Given the description of an element on the screen output the (x, y) to click on. 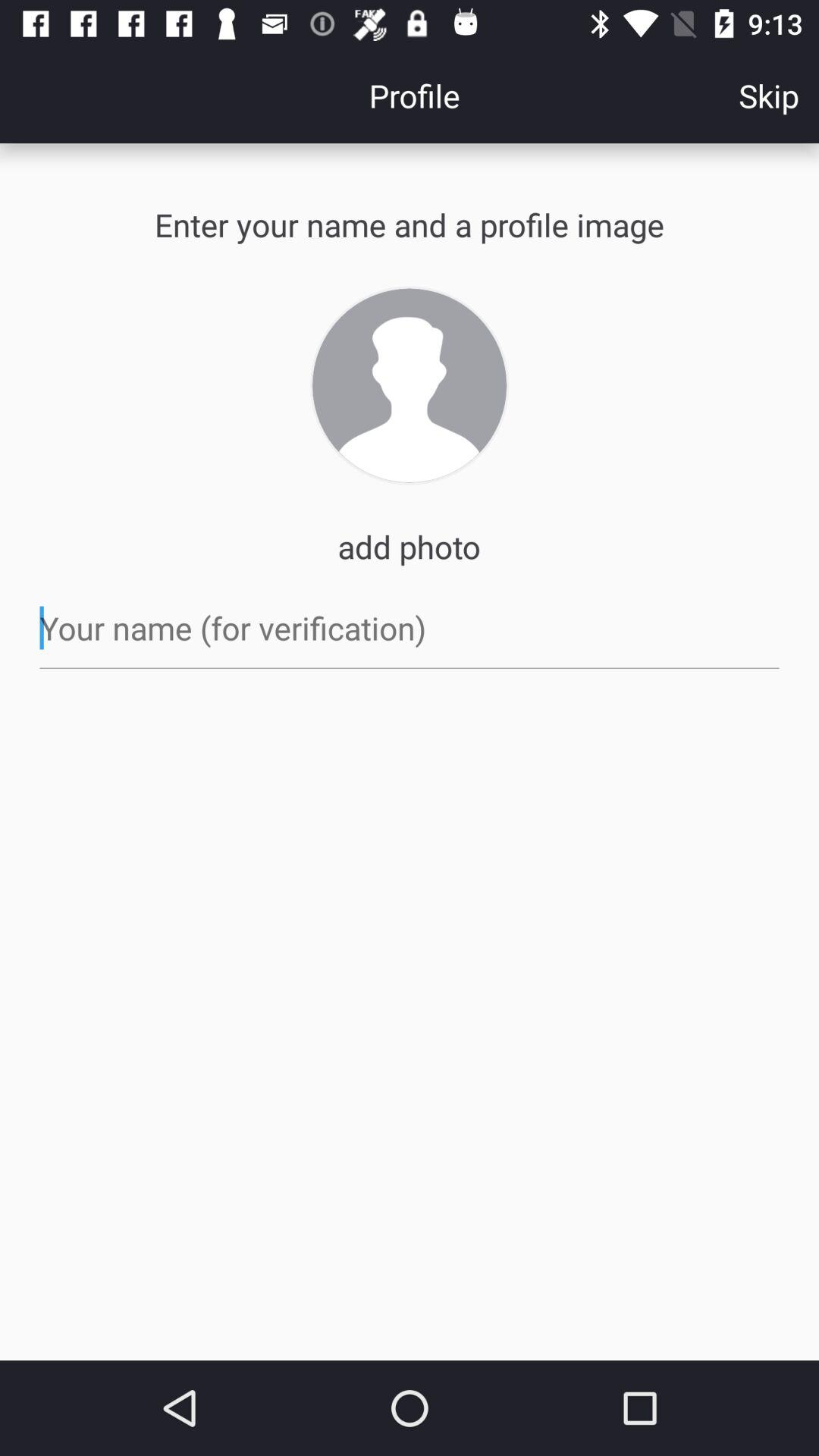
photo icon (409, 385)
